Given the description of an element on the screen output the (x, y) to click on. 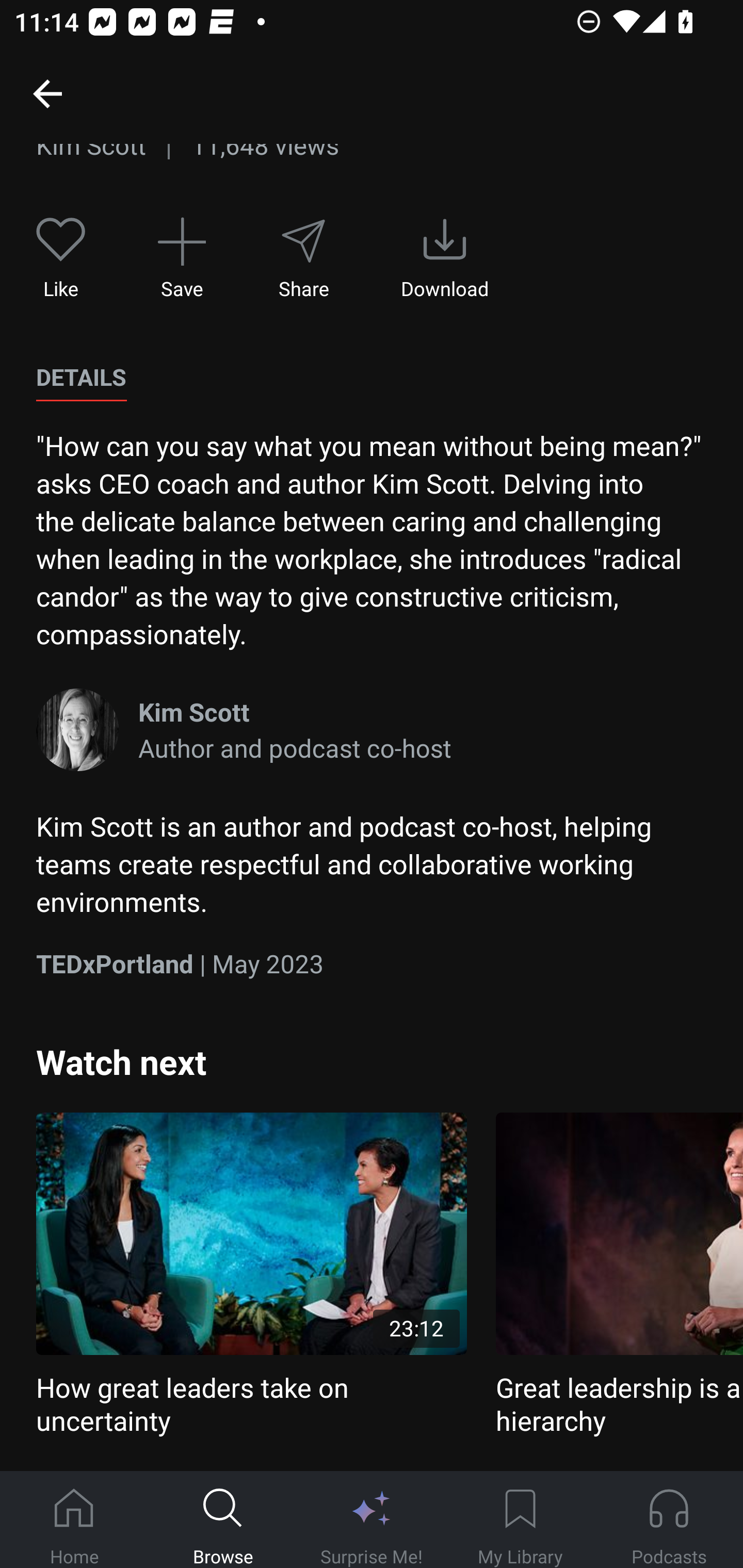
Search, back (47, 92)
Like (60, 258)
Save (181, 258)
Share (302, 258)
Download (444, 258)
DETAILS (80, 377)
23:12 How great leaders take on uncertainty (251, 1275)
Home (74, 1520)
Browse (222, 1520)
Surprise Me! (371, 1520)
My Library (519, 1520)
Podcasts (668, 1520)
